Given the description of an element on the screen output the (x, y) to click on. 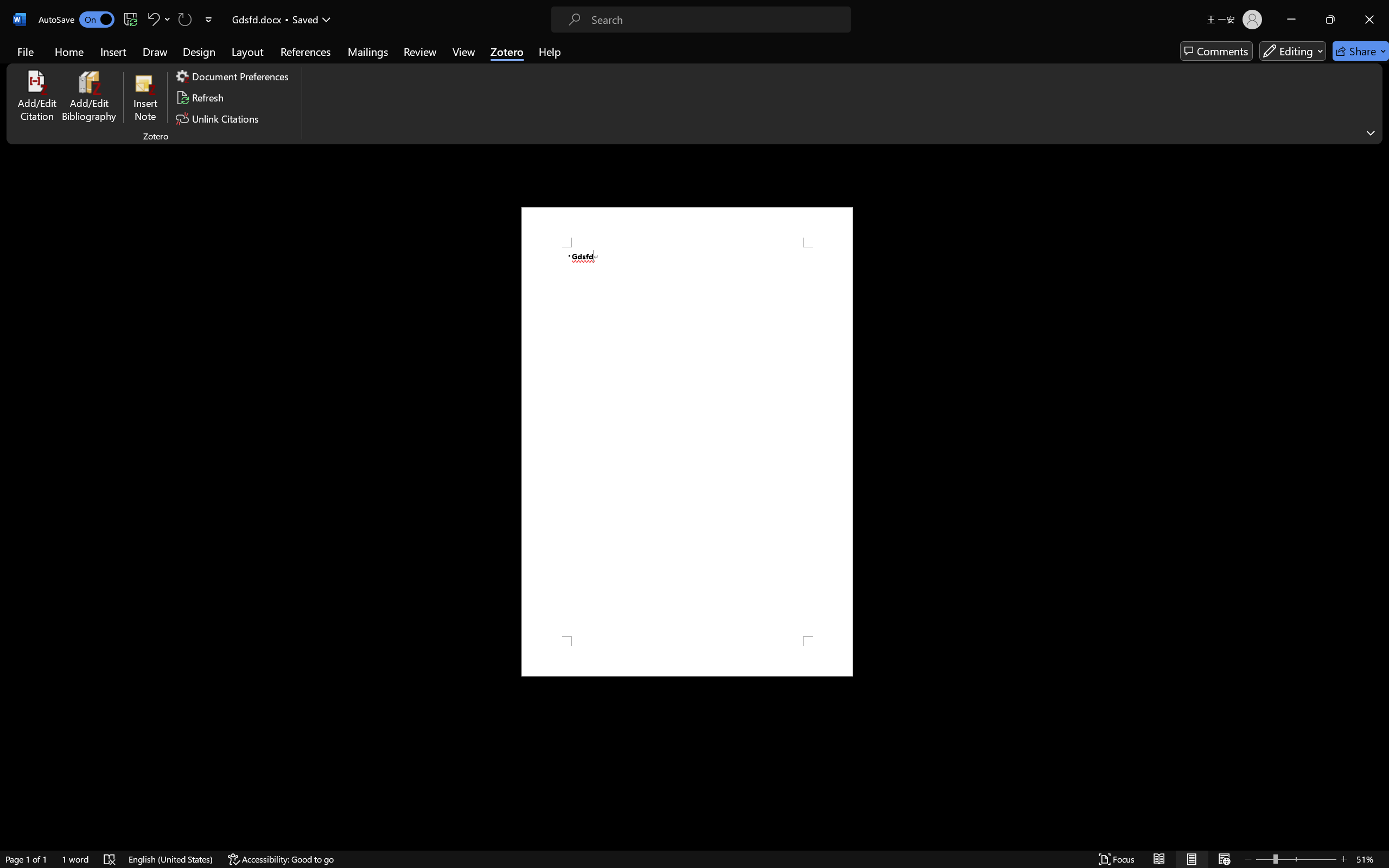
Page 1 content (686, 441)
